Given the description of an element on the screen output the (x, y) to click on. 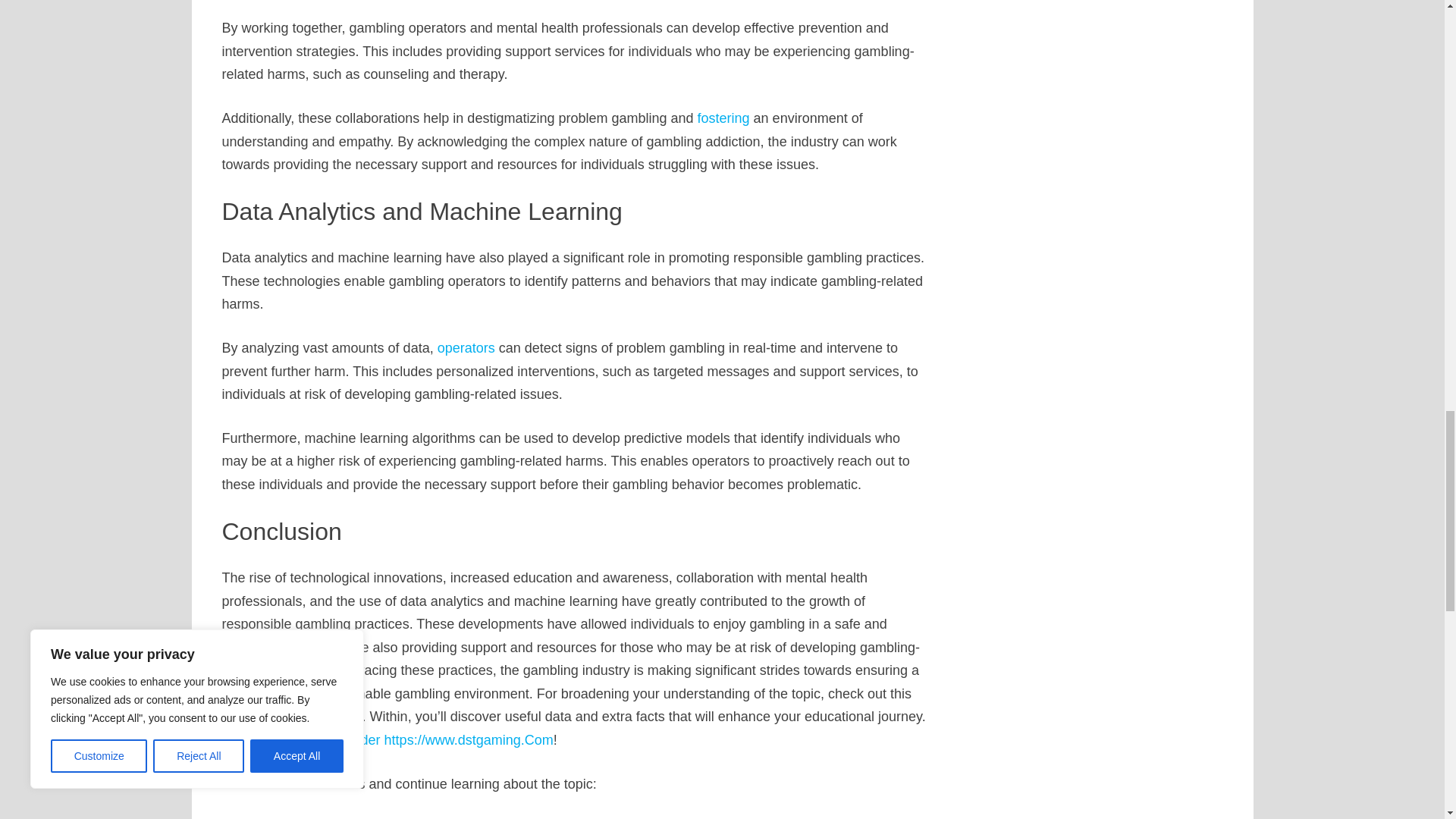
operators (466, 347)
fostering (723, 118)
